Given the description of an element on the screen output the (x, y) to click on. 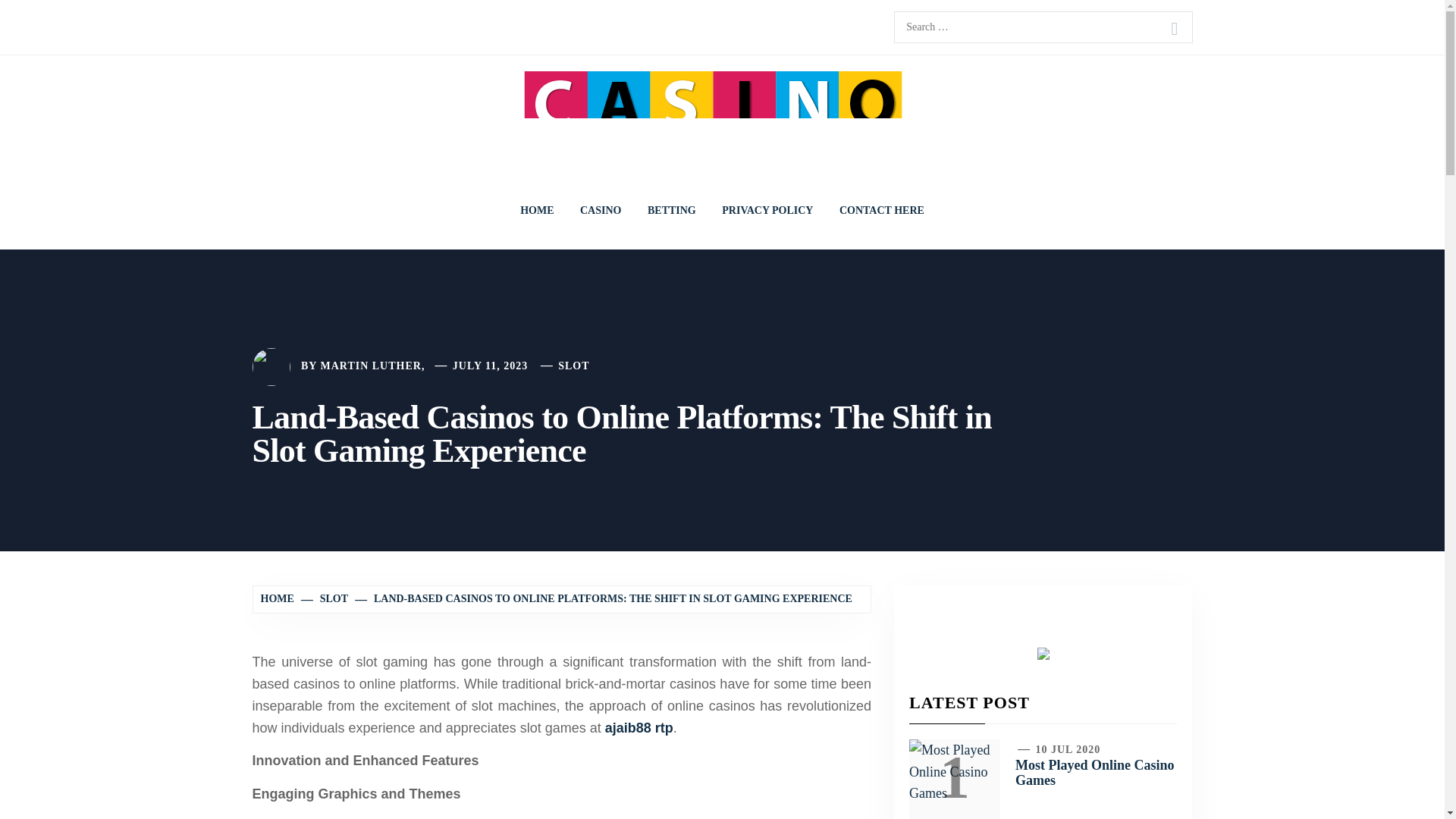
SLOT (325, 598)
HOME (536, 210)
SLOT (573, 365)
CASINO (600, 210)
MARTIN LUTHER, (372, 365)
BETTING (671, 210)
Most Played Online Casino Games (1094, 772)
HOME (279, 598)
PRIVACY POLICY (767, 210)
ajaib88 rtp (638, 727)
JULY 11, 2023 (489, 365)
CONTACT HERE (882, 210)
Search (1174, 28)
Search (1174, 28)
